Given the description of an element on the screen output the (x, y) to click on. 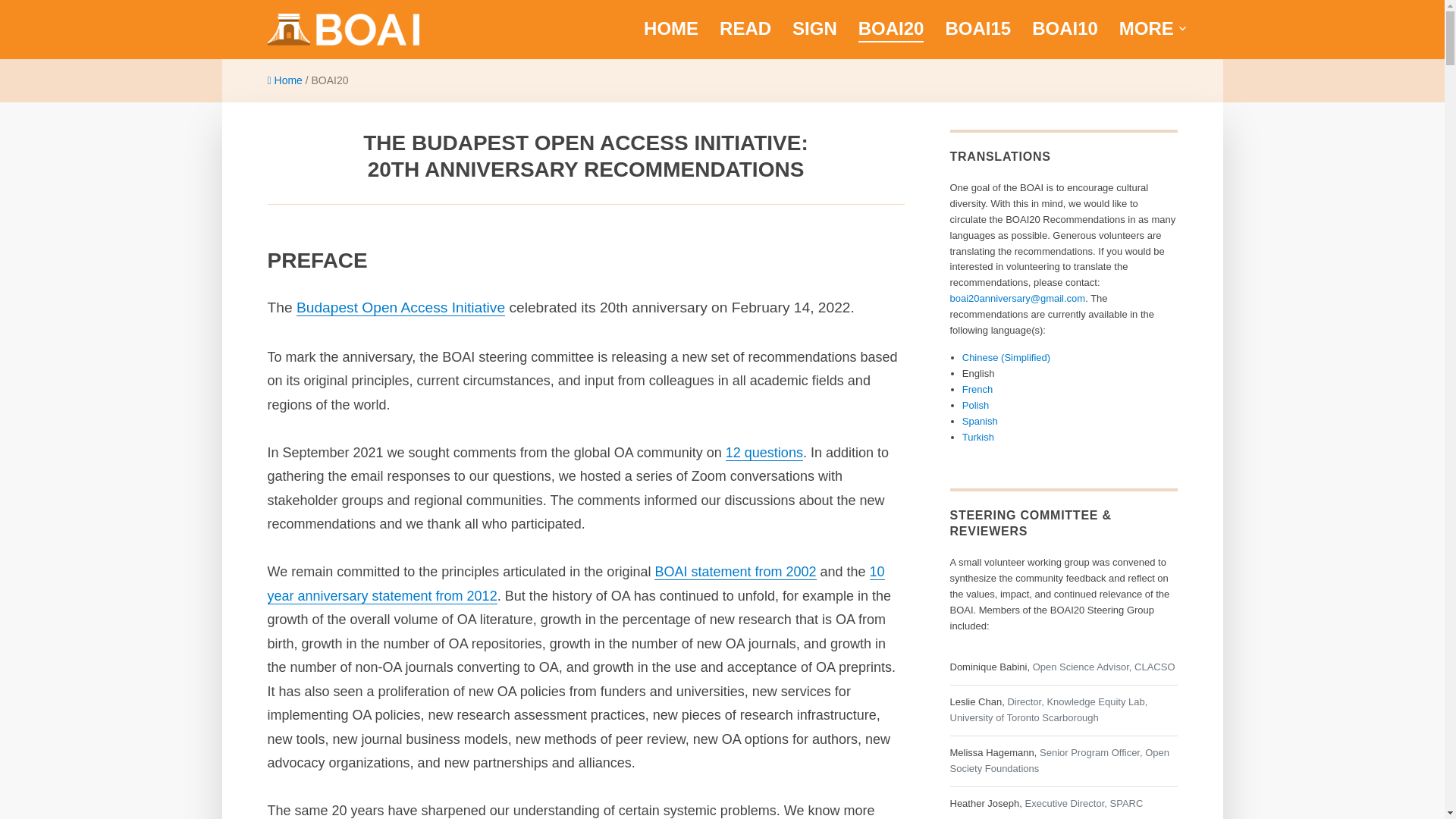
HOME (670, 28)
MORE (1154, 28)
BOAI statement from 2002 (734, 571)
Home (285, 80)
BOAI15 (977, 28)
Go to Budapest Open Access Initiative. (285, 80)
10 year anniversary statement from 2012 (574, 583)
BOAI10 (1064, 28)
Budapest Open Access Initiative (430, 69)
12 questions (764, 452)
